Given the description of an element on the screen output the (x, y) to click on. 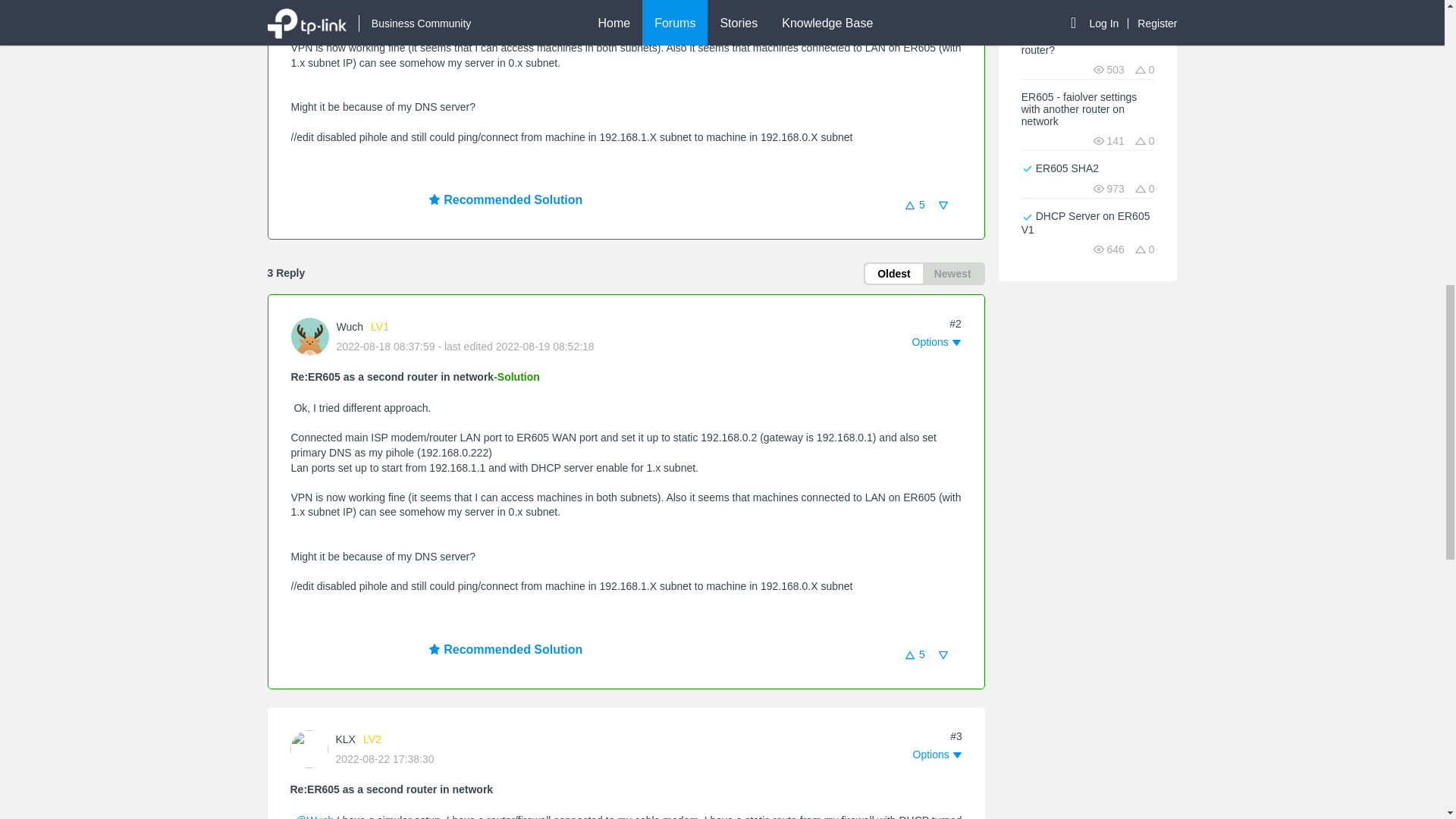
KLX (344, 739)
Wuch (350, 326)
